Given the description of an element on the screen output the (x, y) to click on. 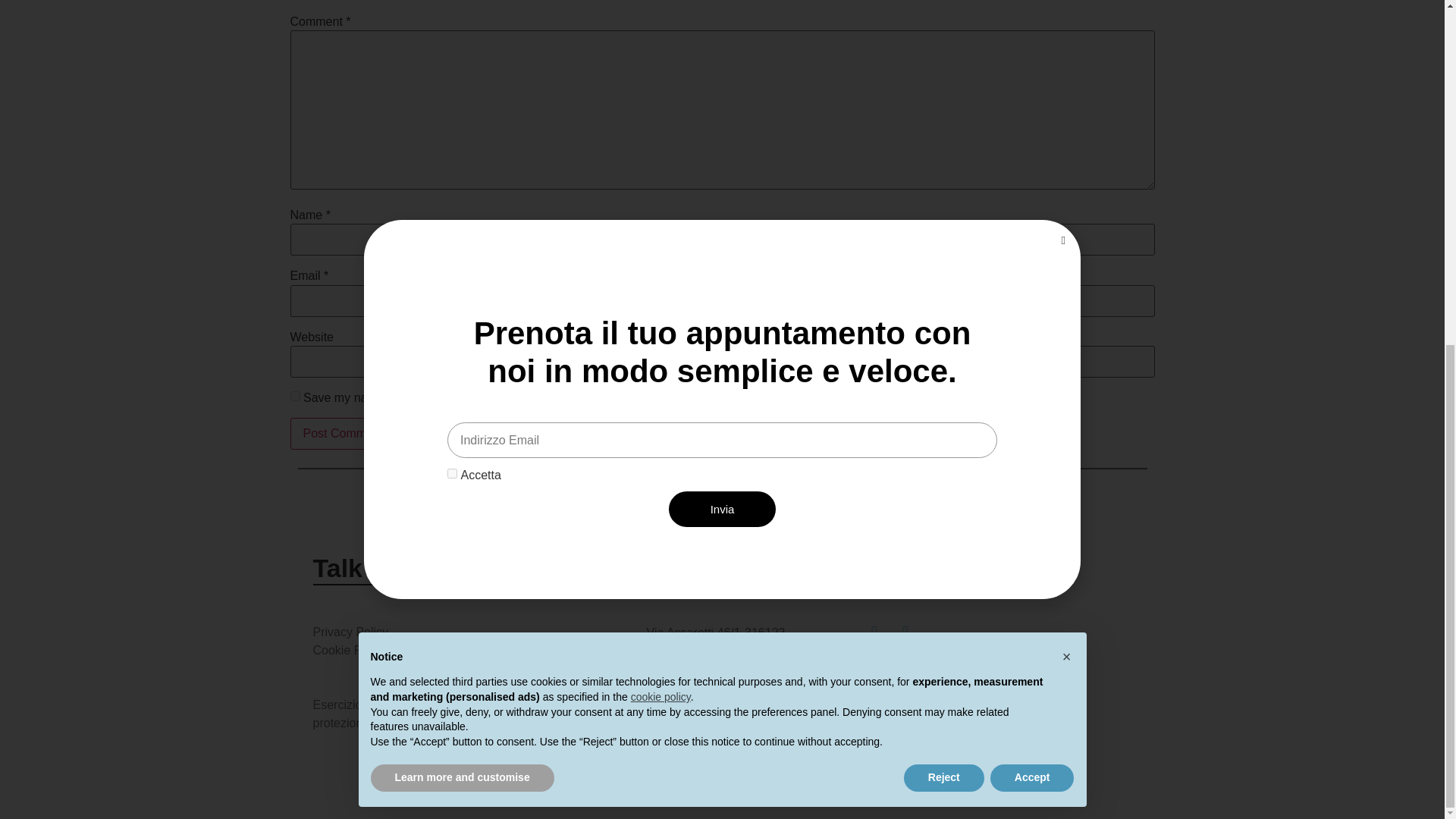
Post Comment (342, 433)
Post Comment (342, 433)
cookie policy (660, 105)
yes (294, 396)
